Given the description of an element on the screen output the (x, y) to click on. 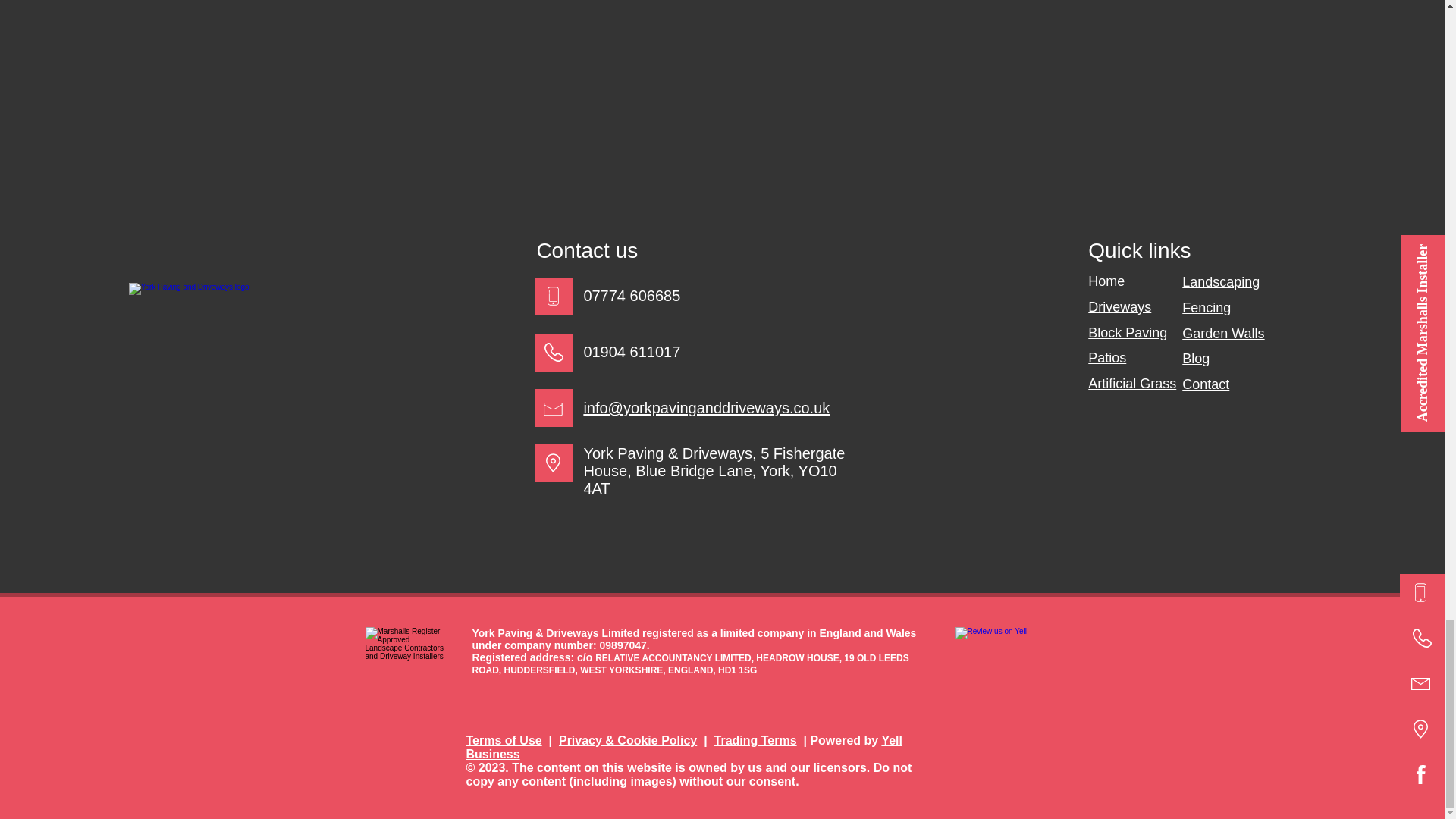
Artificial Grass (1131, 383)
Patios (1106, 357)
Home (1105, 281)
Driveways (1119, 306)
Landscaping (1220, 281)
Block Paving (1127, 332)
